Given the description of an element on the screen output the (x, y) to click on. 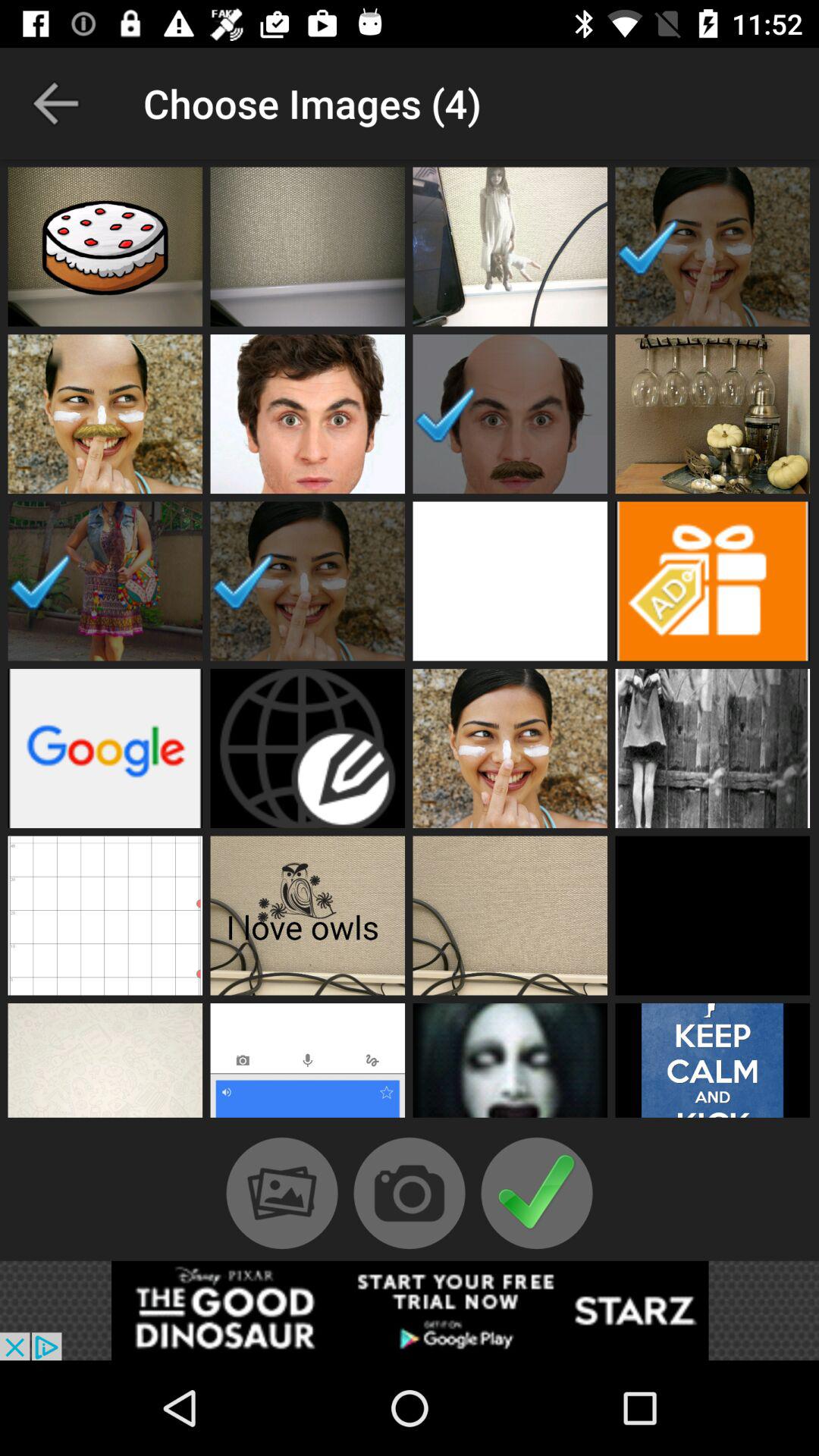
select a picture to open (509, 246)
